Given the description of an element on the screen output the (x, y) to click on. 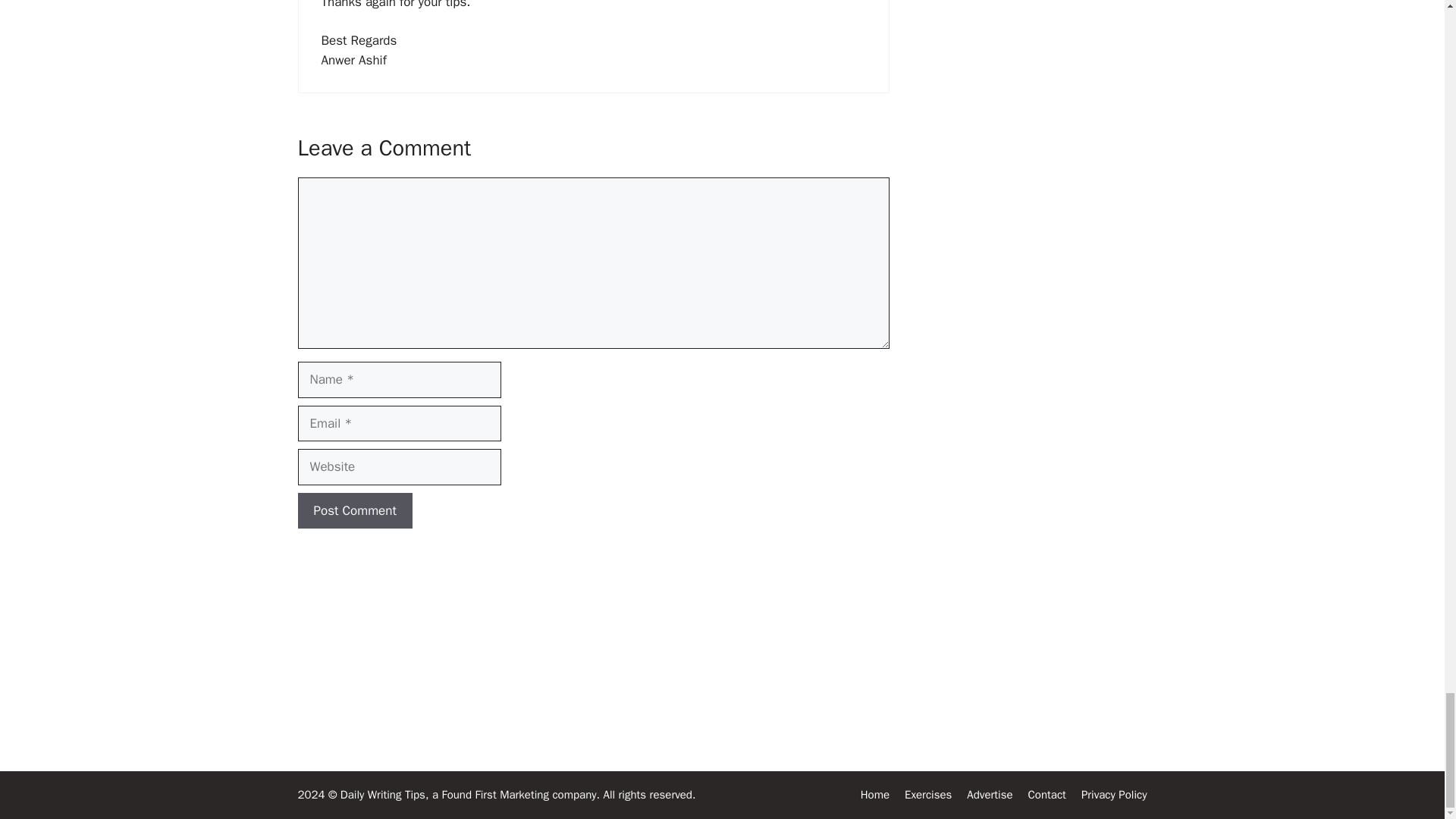
Post Comment (354, 511)
Post Comment (354, 511)
